Given the description of an element on the screen output the (x, y) to click on. 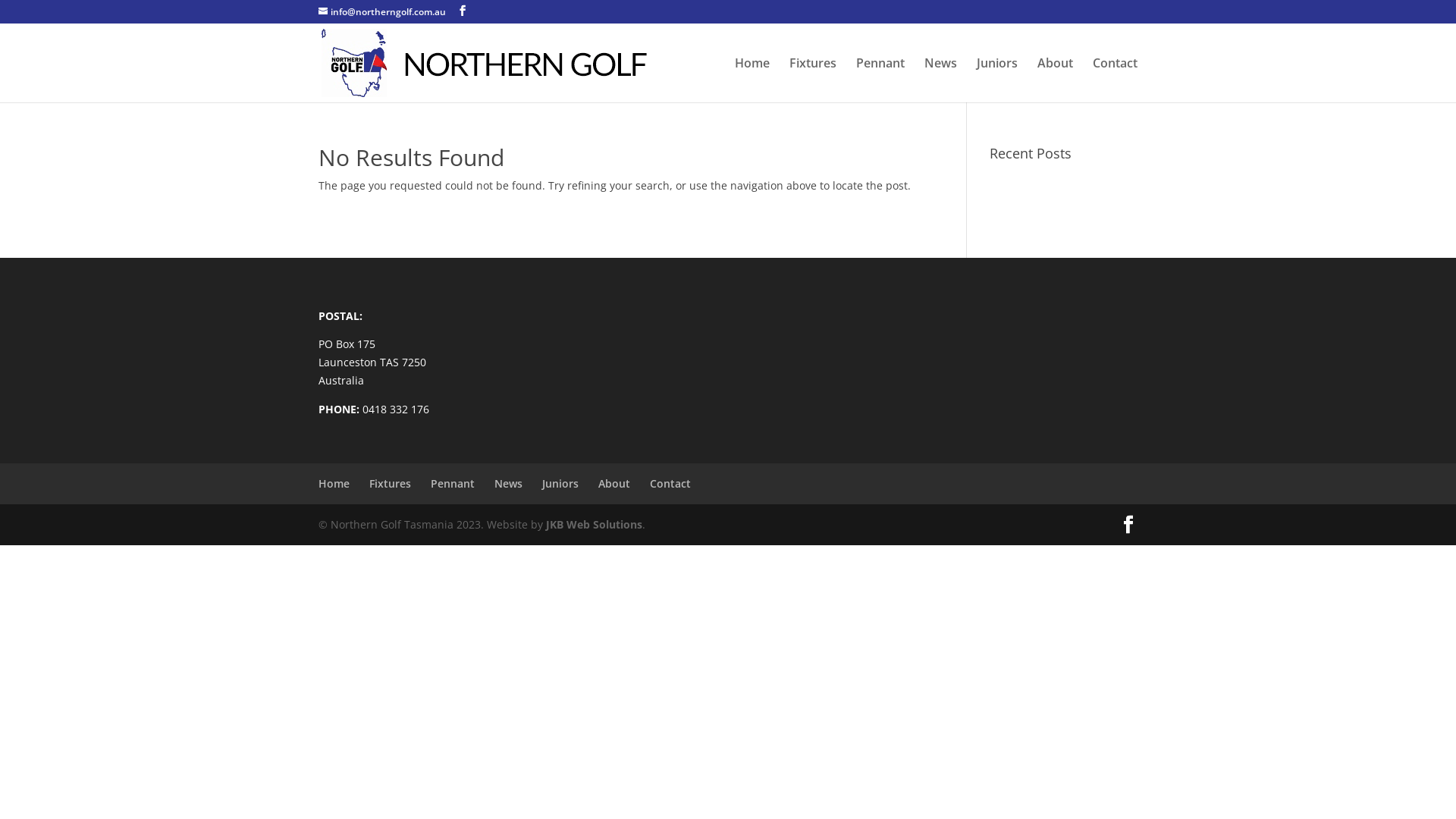
JKB Web Solutions Element type: text (594, 524)
Home Element type: text (333, 483)
Contact Element type: text (1114, 79)
Pennant Element type: text (452, 483)
News Element type: text (940, 79)
Juniors Element type: text (996, 79)
Pennant Element type: text (880, 79)
About Element type: text (1055, 79)
Contact Element type: text (669, 483)
Fixtures Element type: text (390, 483)
News Element type: text (508, 483)
Home Element type: text (751, 79)
Fixtures Element type: text (812, 79)
About Element type: text (614, 483)
Juniors Element type: text (560, 483)
info@northerngolf.com.au Element type: text (381, 11)
